Given the description of an element on the screen output the (x, y) to click on. 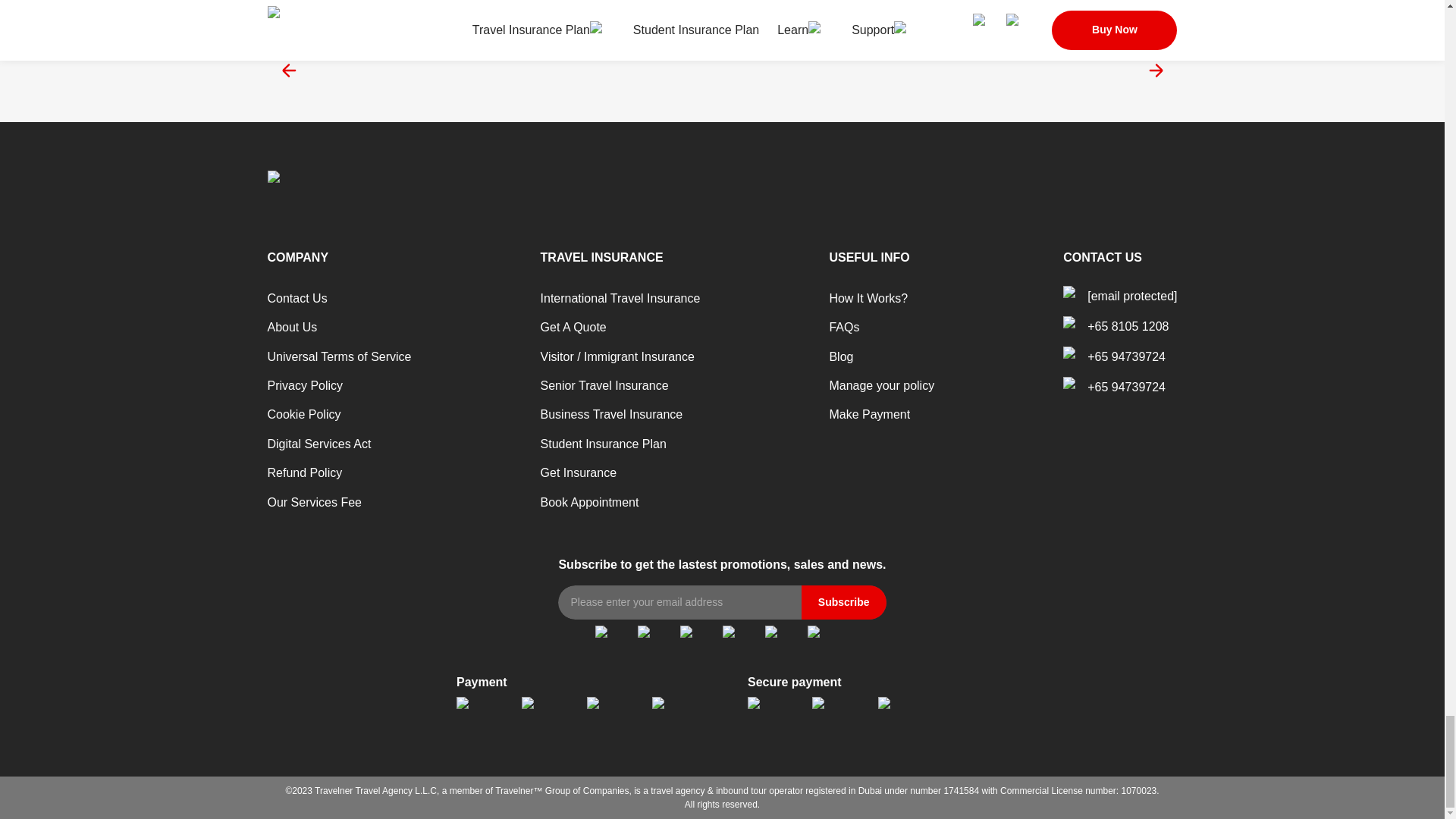
Privacy Policy (304, 385)
About Us (291, 327)
Contact Us (296, 297)
Universal Terms of Service (338, 356)
